Given the description of an element on the screen output the (x, y) to click on. 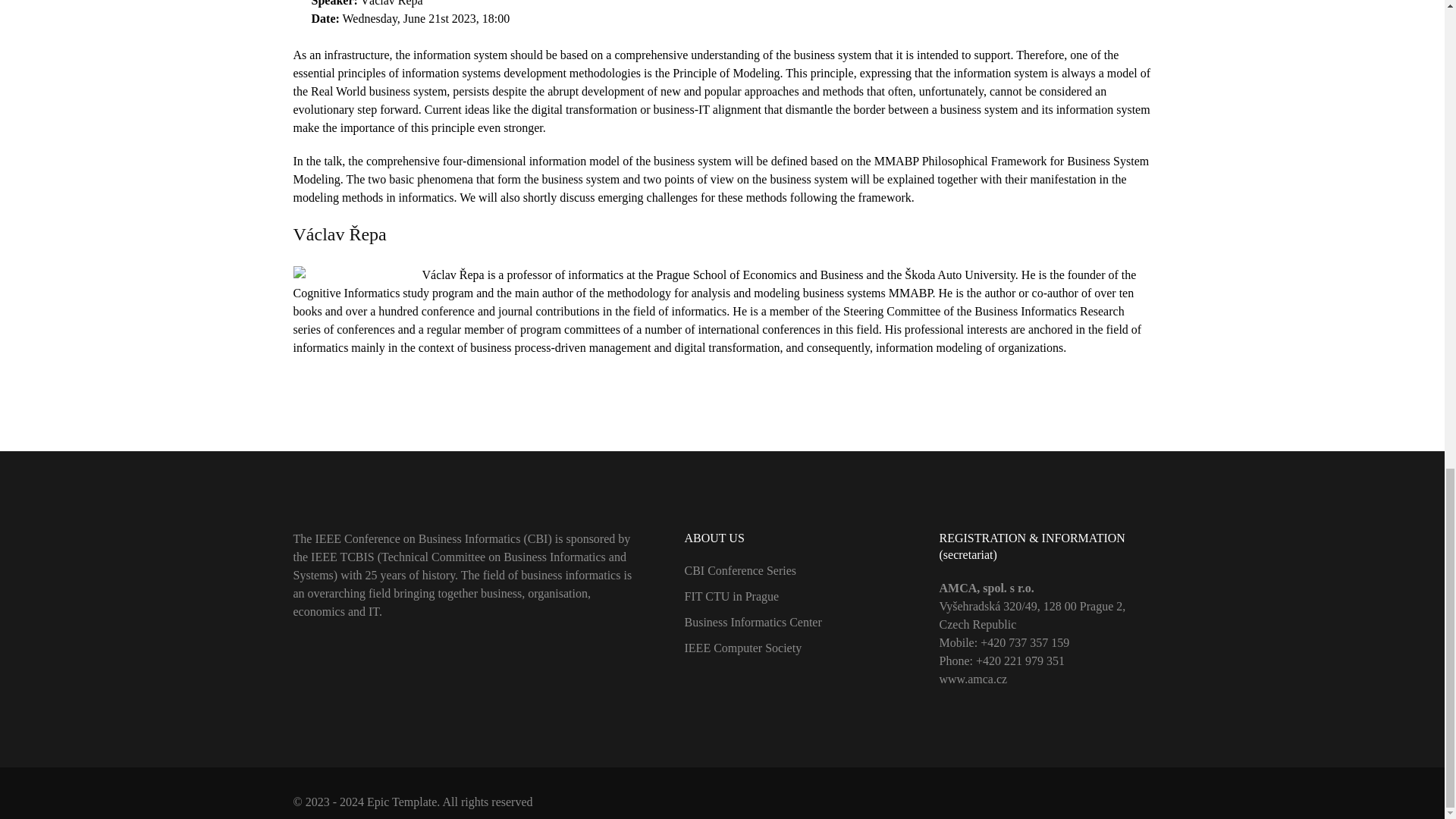
www.amca.cz (973, 678)
IEEE Computer Society (743, 647)
Business Informatics Center (752, 621)
Epic Template (401, 801)
FIT CTU in Prague (731, 595)
CBI Conference Series (740, 570)
